Given the description of an element on the screen output the (x, y) to click on. 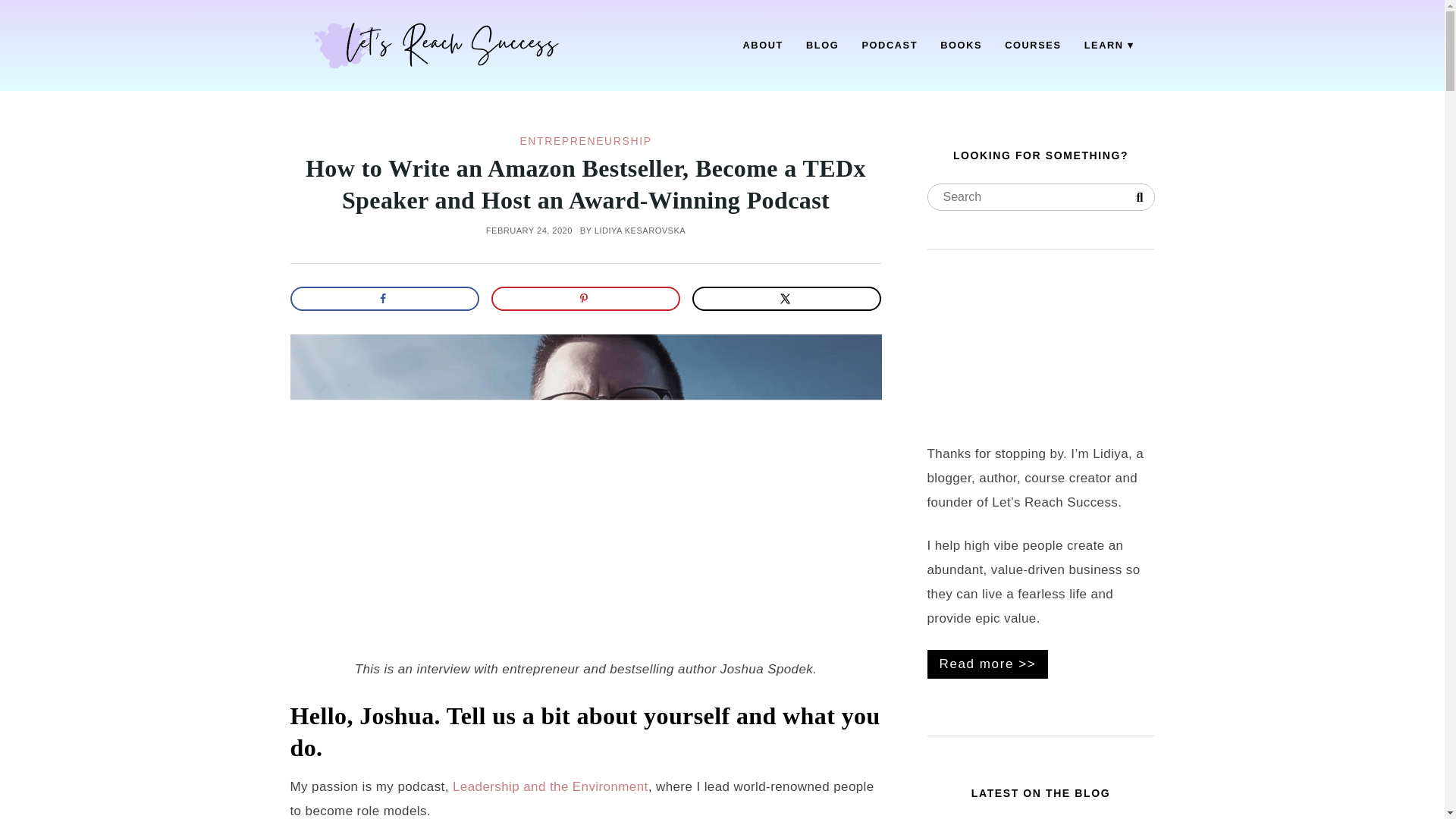
Share on X (787, 298)
BLOG (822, 45)
COURSES (1032, 45)
BOOKS (960, 45)
ENTREPRENEURSHIP (584, 141)
Save to Pinterest (586, 298)
Leadership and the Environment (549, 786)
LEARN (1109, 45)
Share on Facebook (384, 298)
